Given the description of an element on the screen output the (x, y) to click on. 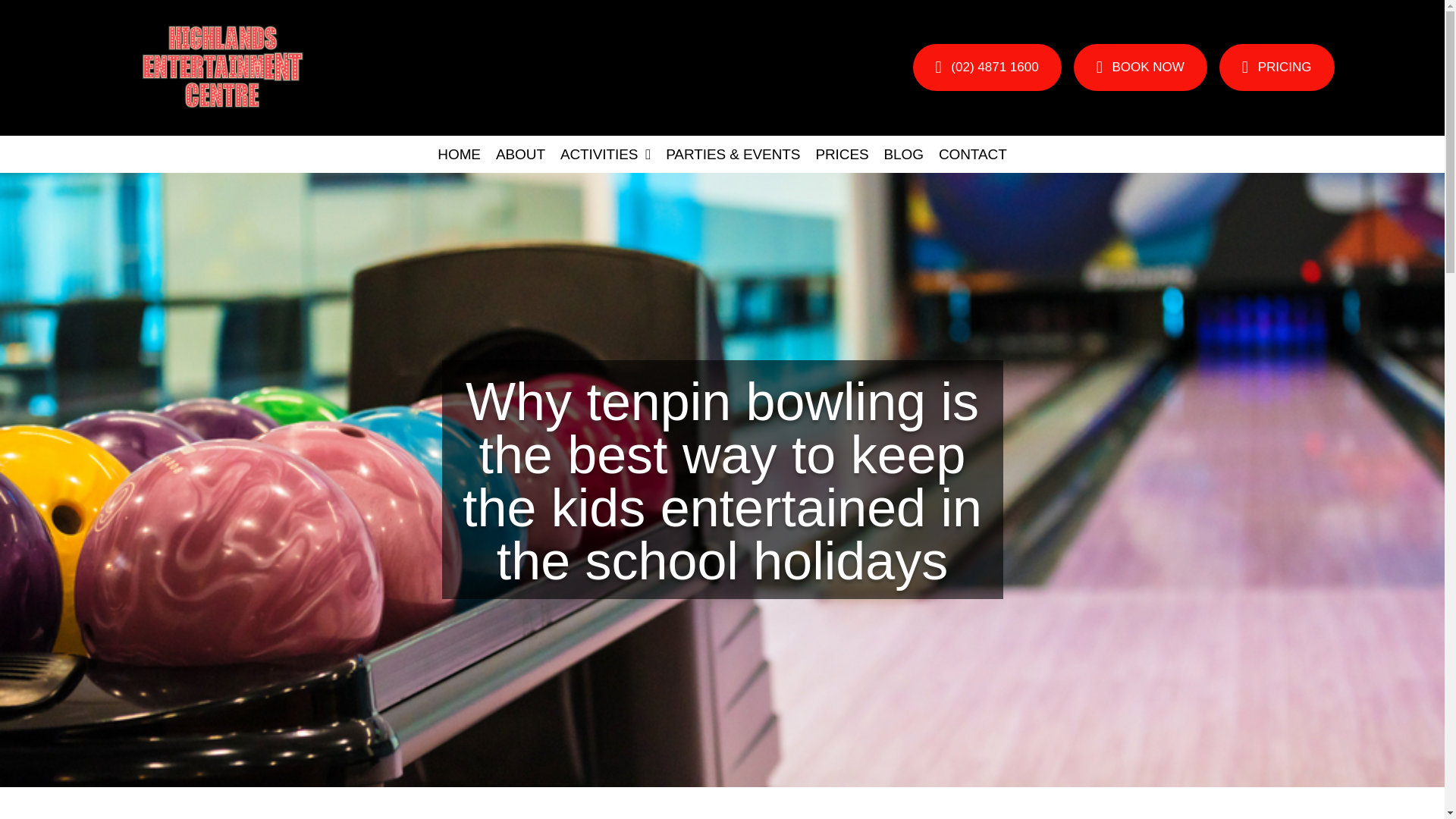
CONTACT (972, 154)
BOOK NOW (1140, 67)
PRICING (1277, 67)
BLOG (903, 154)
ABOUT (520, 154)
ACTIVITIES (605, 154)
PRICES (842, 154)
HOME (458, 154)
